Given the description of an element on the screen output the (x, y) to click on. 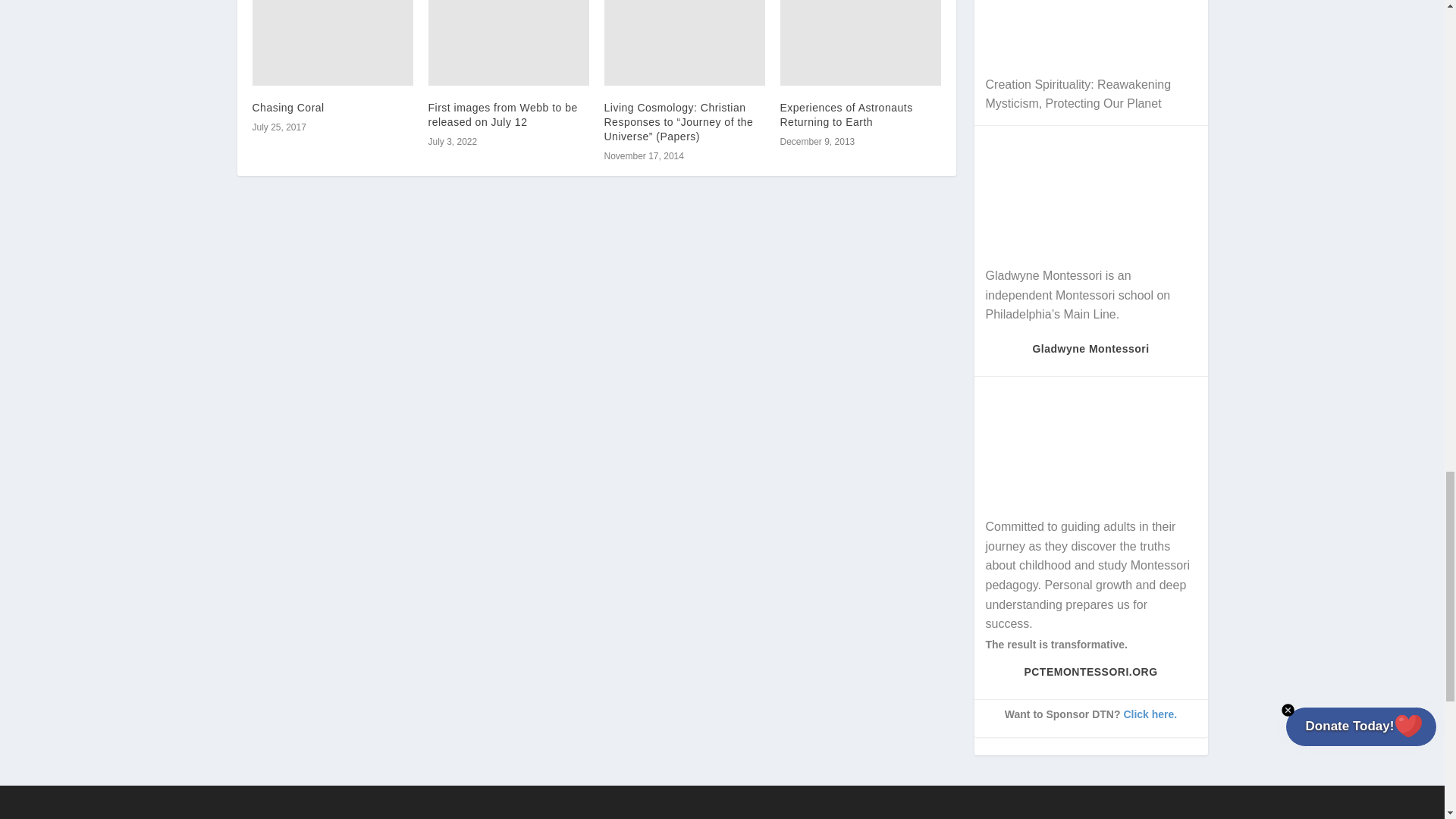
Experiences of Astronauts Returning to Earth (859, 42)
Chasing Coral (331, 42)
First images from Webb to be released on July 12 (508, 42)
